Given the description of an element on the screen output the (x, y) to click on. 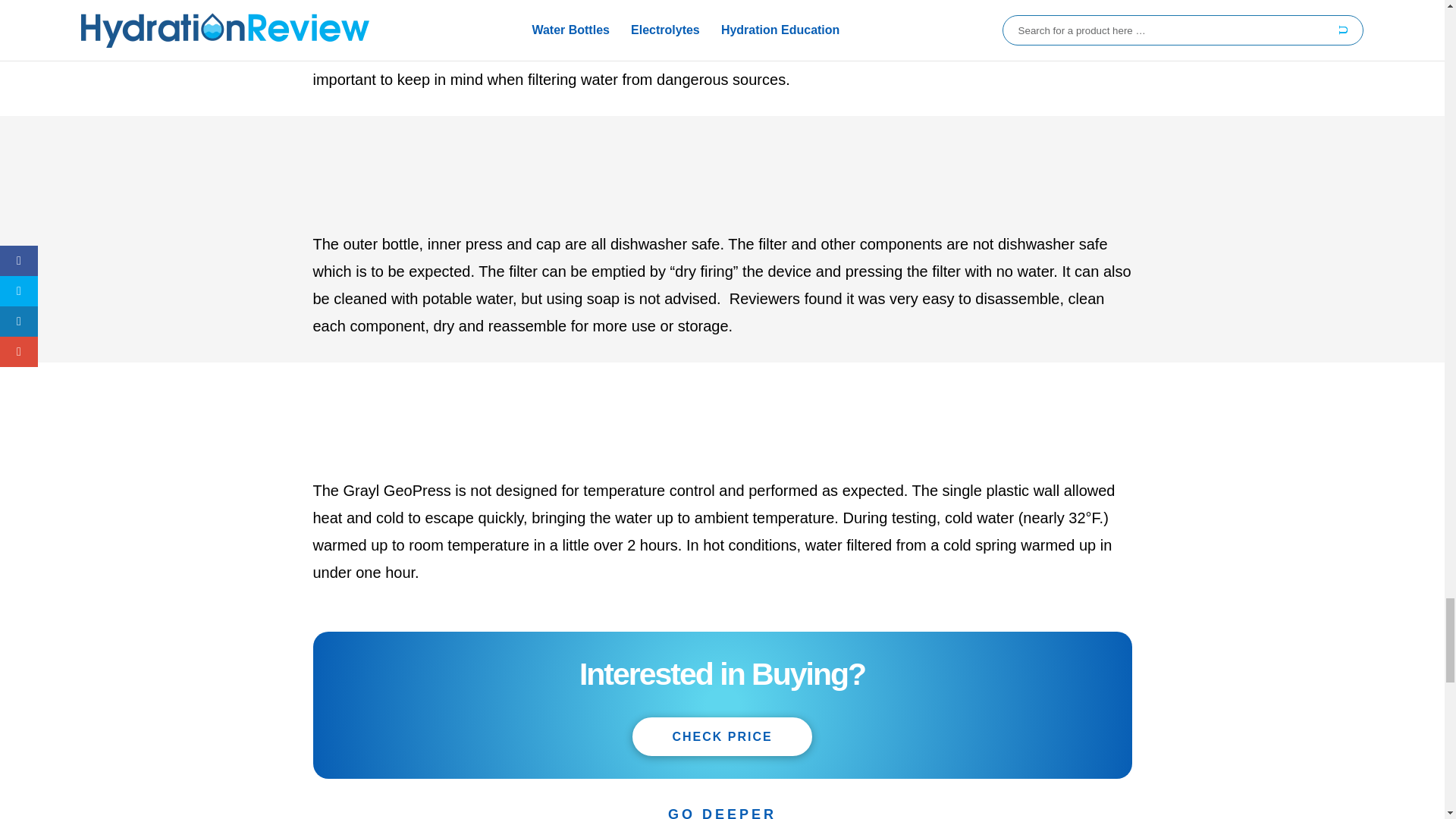
CHECK PRICE (720, 736)
